Given the description of an element on the screen output the (x, y) to click on. 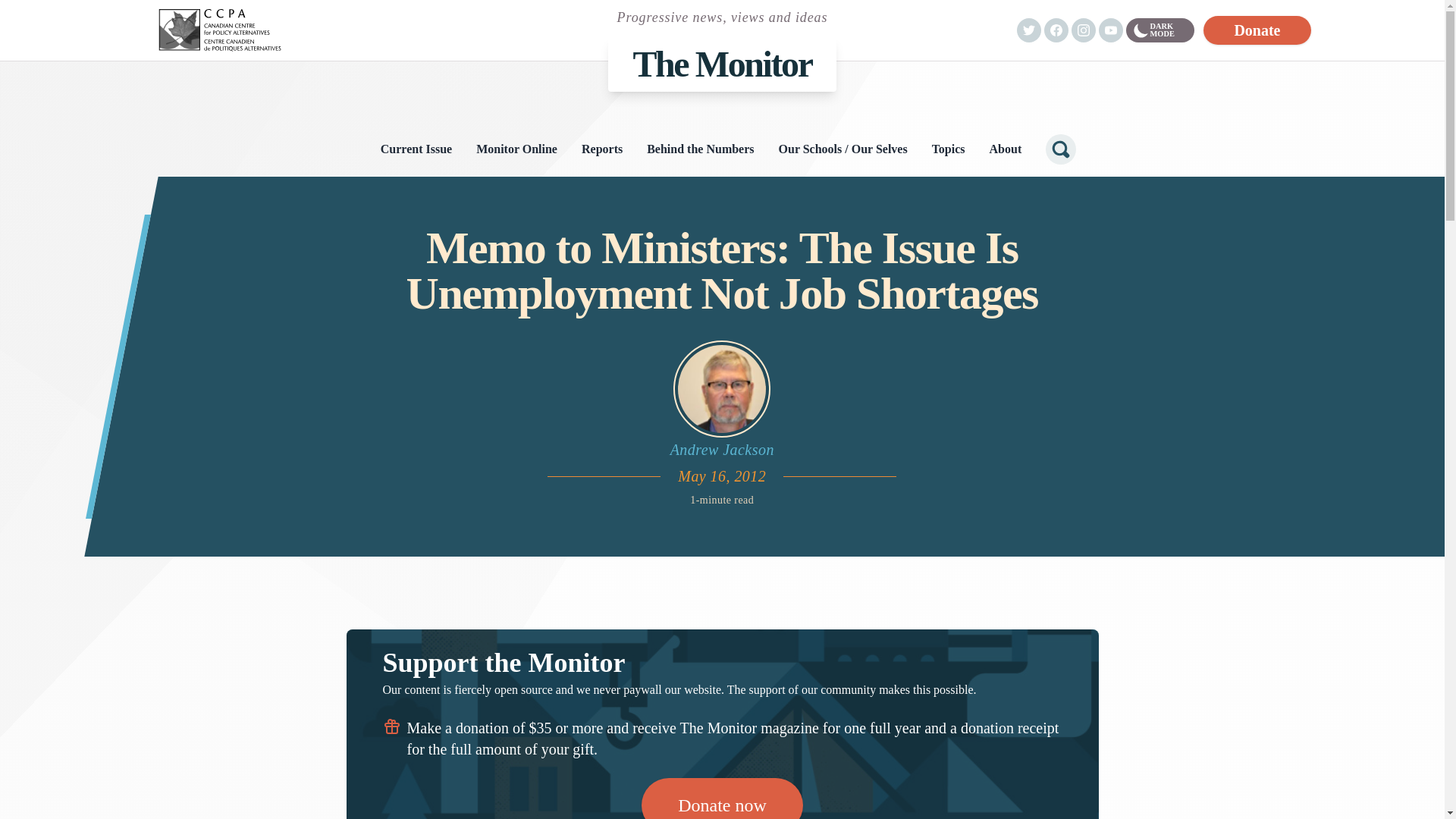
DARK MODE (1159, 30)
The Monitor (721, 63)
Twitter (1028, 30)
Donate (1257, 29)
